Given the description of an element on the screen output the (x, y) to click on. 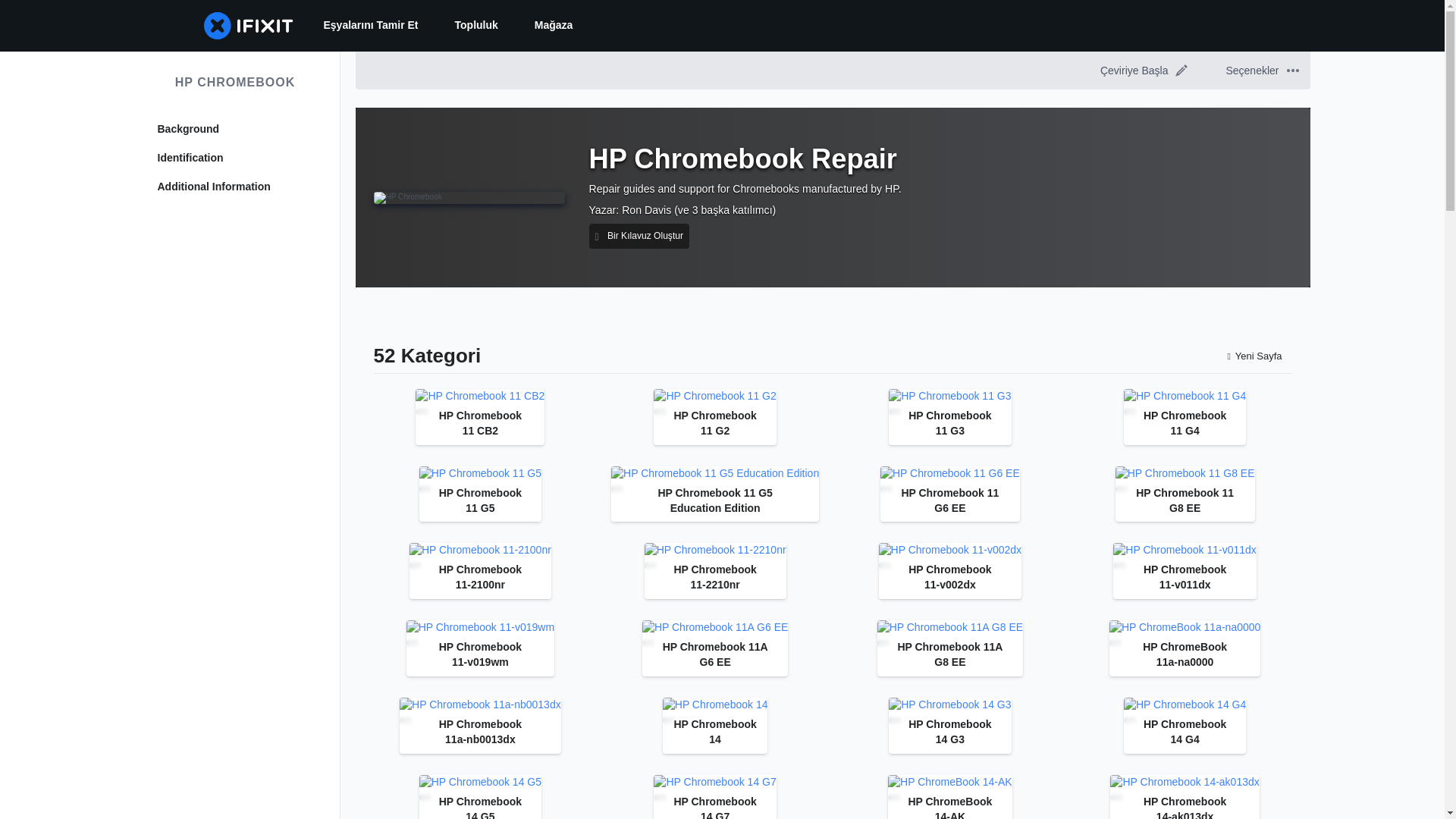
HP ChromeBook 14-AK (949, 782)
HP Chromebook 11-v019wm (480, 627)
HP Chromebook 11 G8 EE (1185, 473)
HP Chromebook 11a-nb0013dx (479, 704)
Additional Information (235, 187)
Identification (235, 158)
HP Chromebook 14-ak013dx (1184, 782)
Yeni Sayfa (1254, 355)
Ron Davis (646, 209)
HP Chromebook 14 G3 (949, 704)
HP Chromebook 11 CB2 (479, 396)
Background (235, 129)
HP Chromebook 11 G3 (949, 396)
HP Chromebook 11A G6 EE (714, 627)
HP ChromeBook 11a-na0000 (1184, 627)
